Given the description of an element on the screen output the (x, y) to click on. 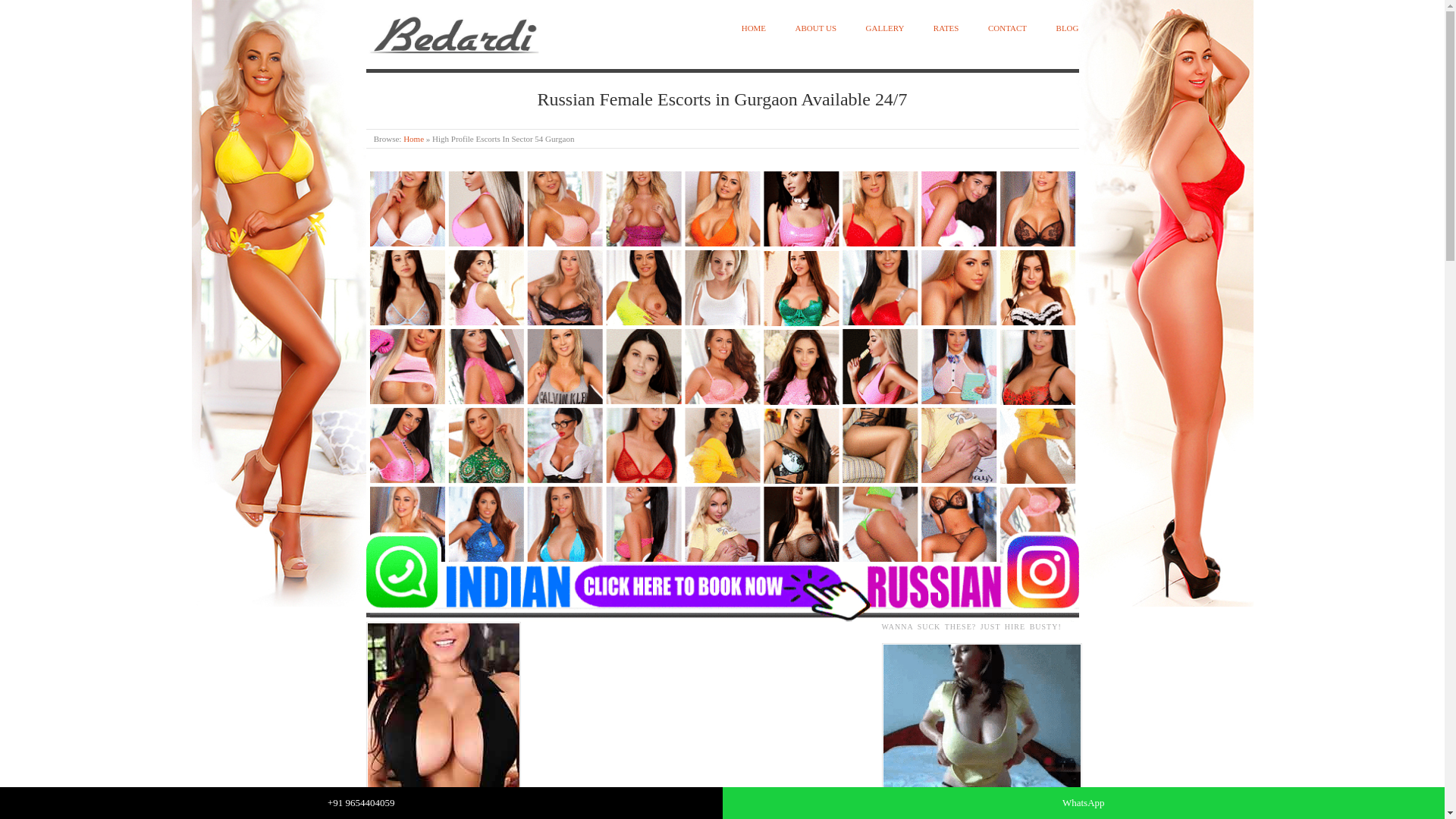
RATES (946, 28)
Russian Escorts in Gurgaon (980, 717)
Home (413, 138)
BLOG (1067, 28)
HOME (753, 28)
Gurgaon Escorts (413, 138)
Gurgaon Escorts (454, 32)
CONTACT (1007, 28)
ABOUT US (815, 28)
GALLERY (885, 28)
